Given the description of an element on the screen output the (x, y) to click on. 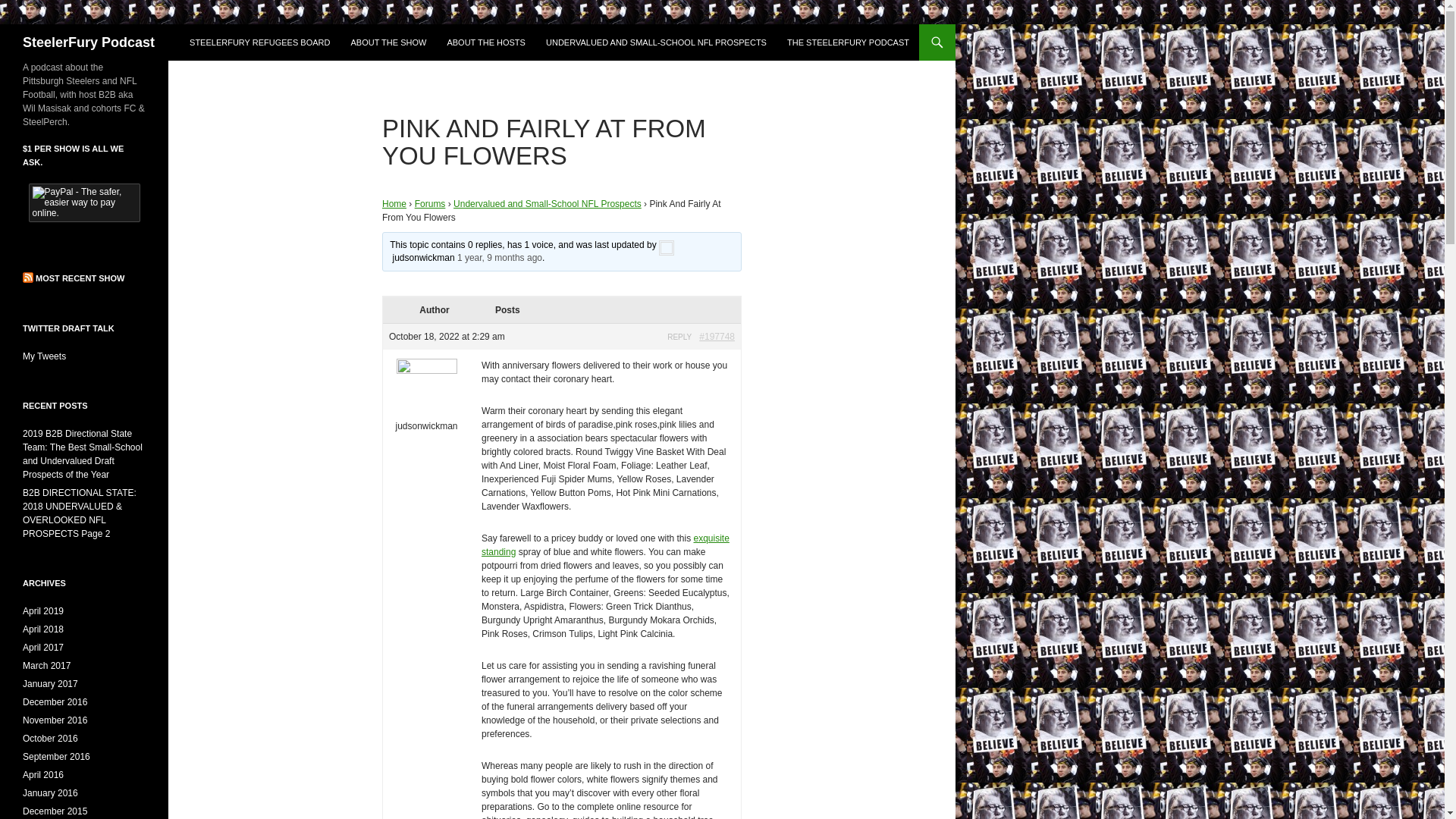
My Tweets (44, 356)
January 2016 (50, 792)
April 2017 (43, 647)
January 2017 (50, 683)
UNDERVALUED AND SMALL-SCHOOL NFL PROSPECTS (656, 42)
THE STEELERFURY PODCAST (847, 42)
REPLY (678, 336)
1 year, 9 months ago (499, 257)
Pink And Fairly At From You Flowers (499, 257)
April 2018 (43, 629)
September 2016 (56, 756)
December 2015 (55, 810)
MOST RECENT SHOW (78, 277)
STEELERFURY REFUGEES BOARD (259, 42)
December 2016 (55, 701)
